Given the description of an element on the screen output the (x, y) to click on. 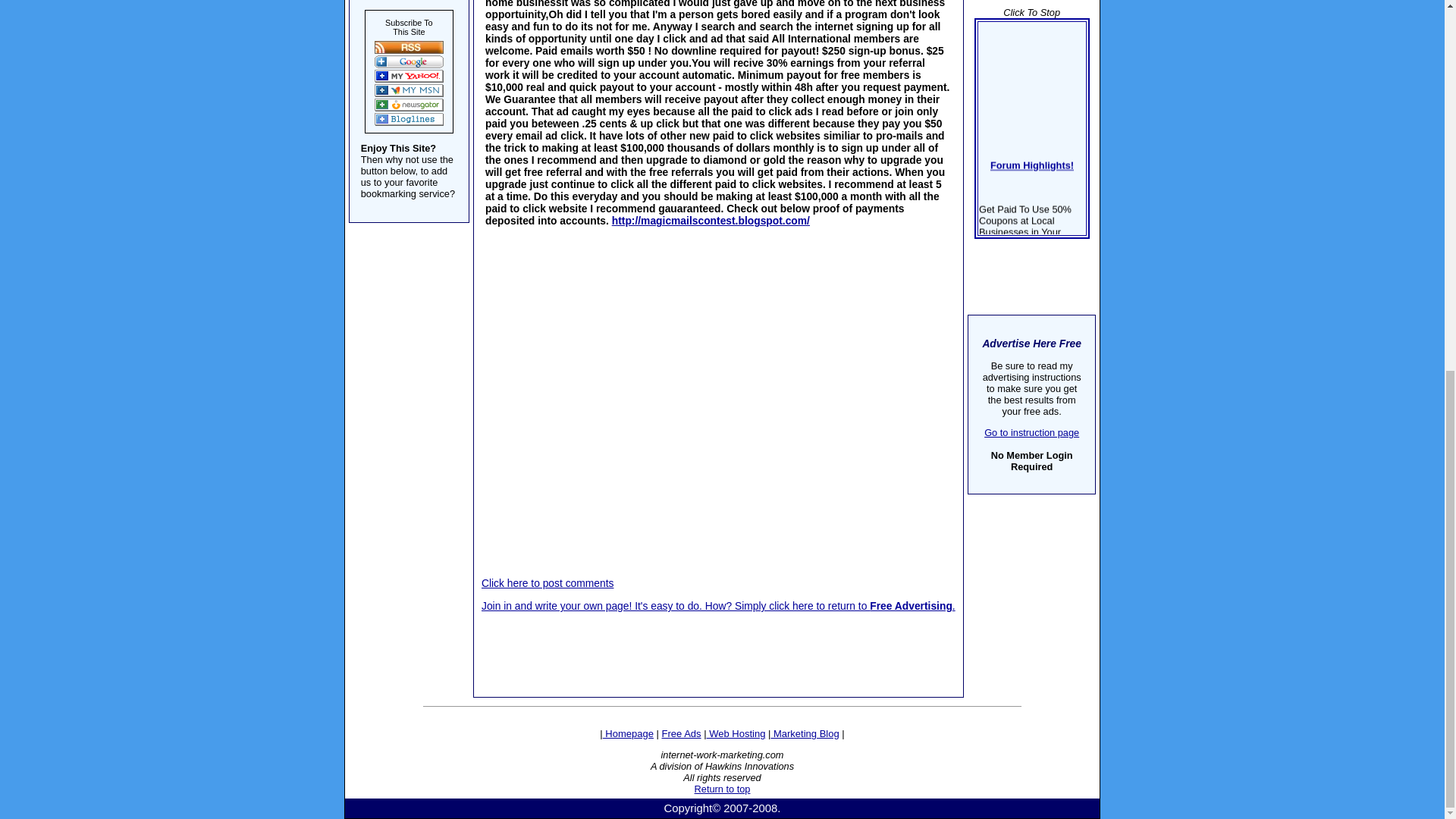
Go to instruction page (1031, 432)
read more... (1021, 415)
Advertisement (718, 355)
Click here to post comments (546, 582)
read more... (1031, 330)
read more... (1021, 370)
Advertisement (718, 645)
